Given the description of an element on the screen output the (x, y) to click on. 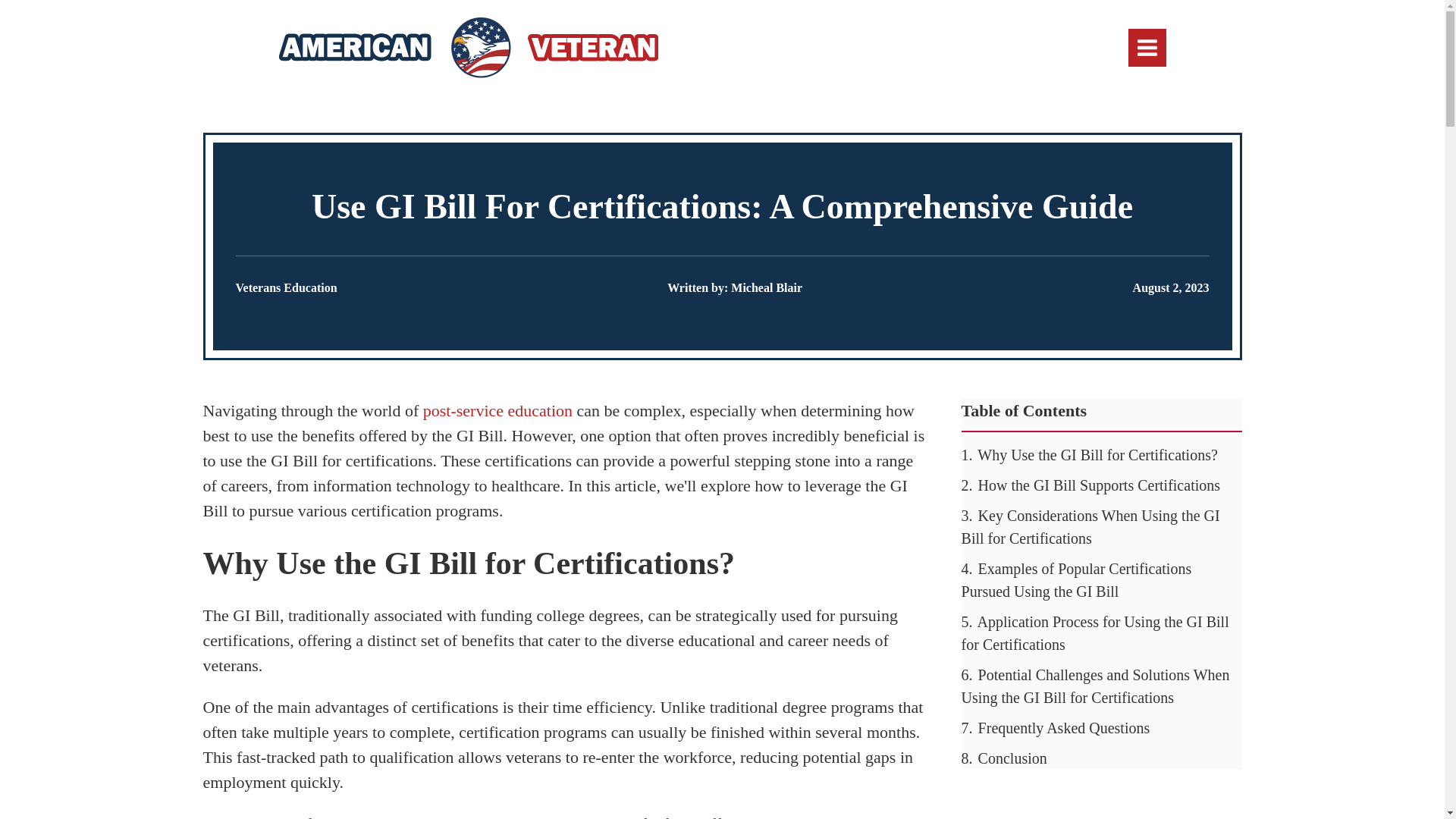
7. Frequently Asked Questions (1055, 727)
2. How the GI Bill Supports Certifications (1090, 484)
Veterans Education (285, 287)
Micheal Blair (766, 287)
8. Conclusion (1003, 758)
1. Why Use the GI Bill for Certifications? (1088, 454)
post-service education (497, 410)
